Given the description of an element on the screen output the (x, y) to click on. 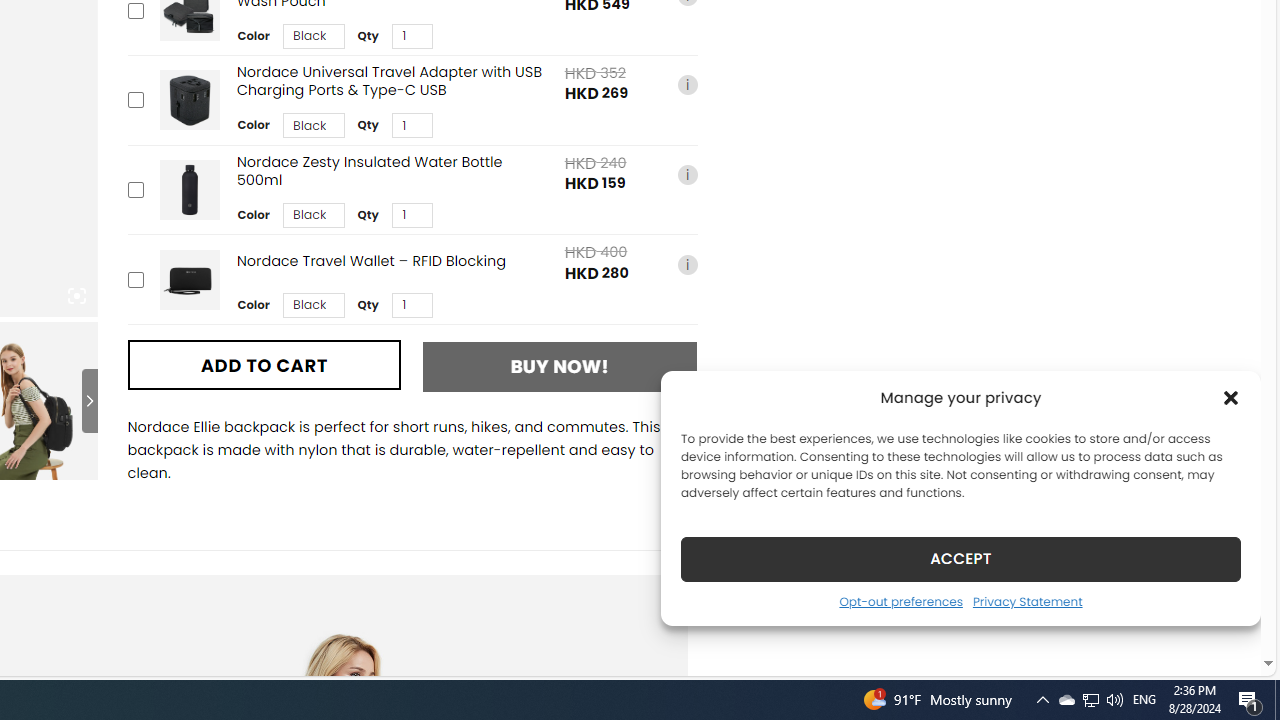
Nordace Zesty Insulated Water Bottle 500ml (189, 189)
BUY NOW! (559, 366)
Class: upsell-v2-product-upsell-variable-product-qty-select (411, 305)
Class: cmplz-close (1231, 397)
Opt-out preferences (900, 601)
ADD TO CART (263, 364)
Privacy Statement (1026, 601)
Add this product to cart (134, 279)
Class: iconic-woothumbs-fullscreen (75, 296)
ACCEPT (960, 558)
i (687, 264)
